Given the description of an element on the screen output the (x, y) to click on. 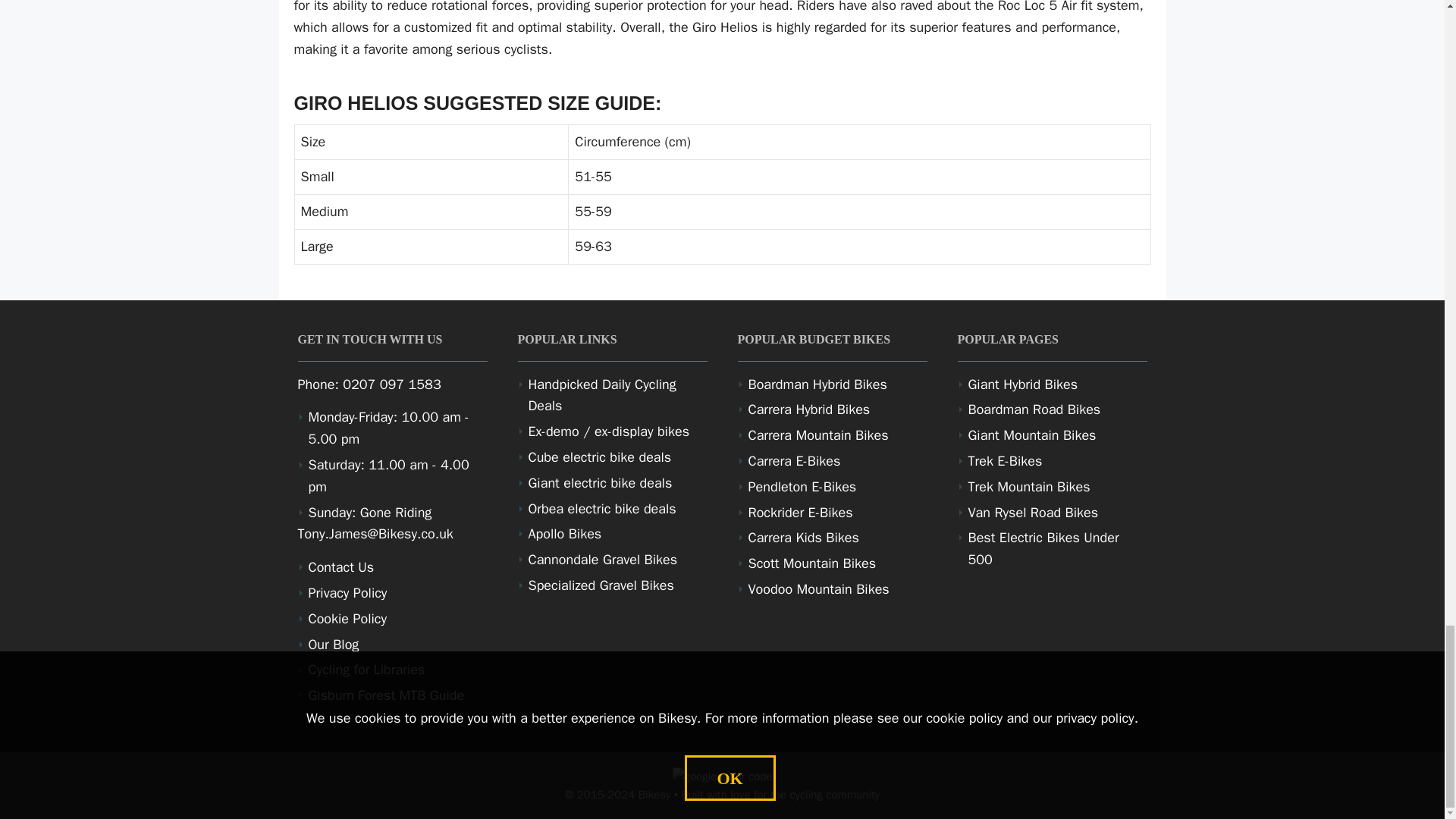
Handpicked Daily Cycling Deals (601, 394)
